Given the description of an element on the screen output the (x, y) to click on. 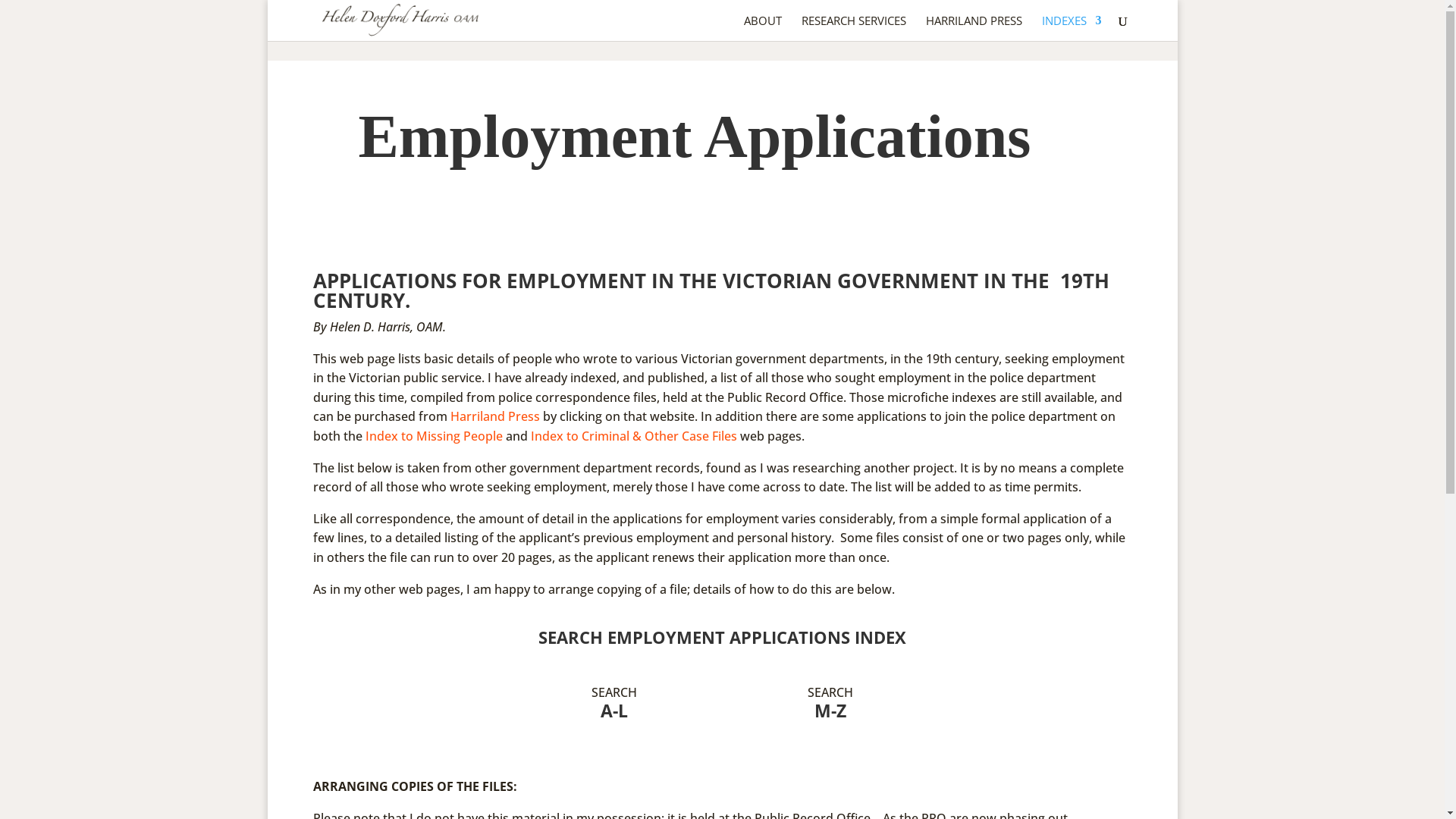
Harriland Press Element type: text (494, 415)
HARRILAND PRESS Element type: text (973, 27)
ABOUT Element type: text (762, 27)
Index to Missing People Element type: text (433, 435)
INDEXES Element type: text (1071, 27)
Index to Criminal & Other Case Files Element type: text (633, 435)
RESEARCH SERVICES Element type: text (852, 27)
